Given the description of an element on the screen output the (x, y) to click on. 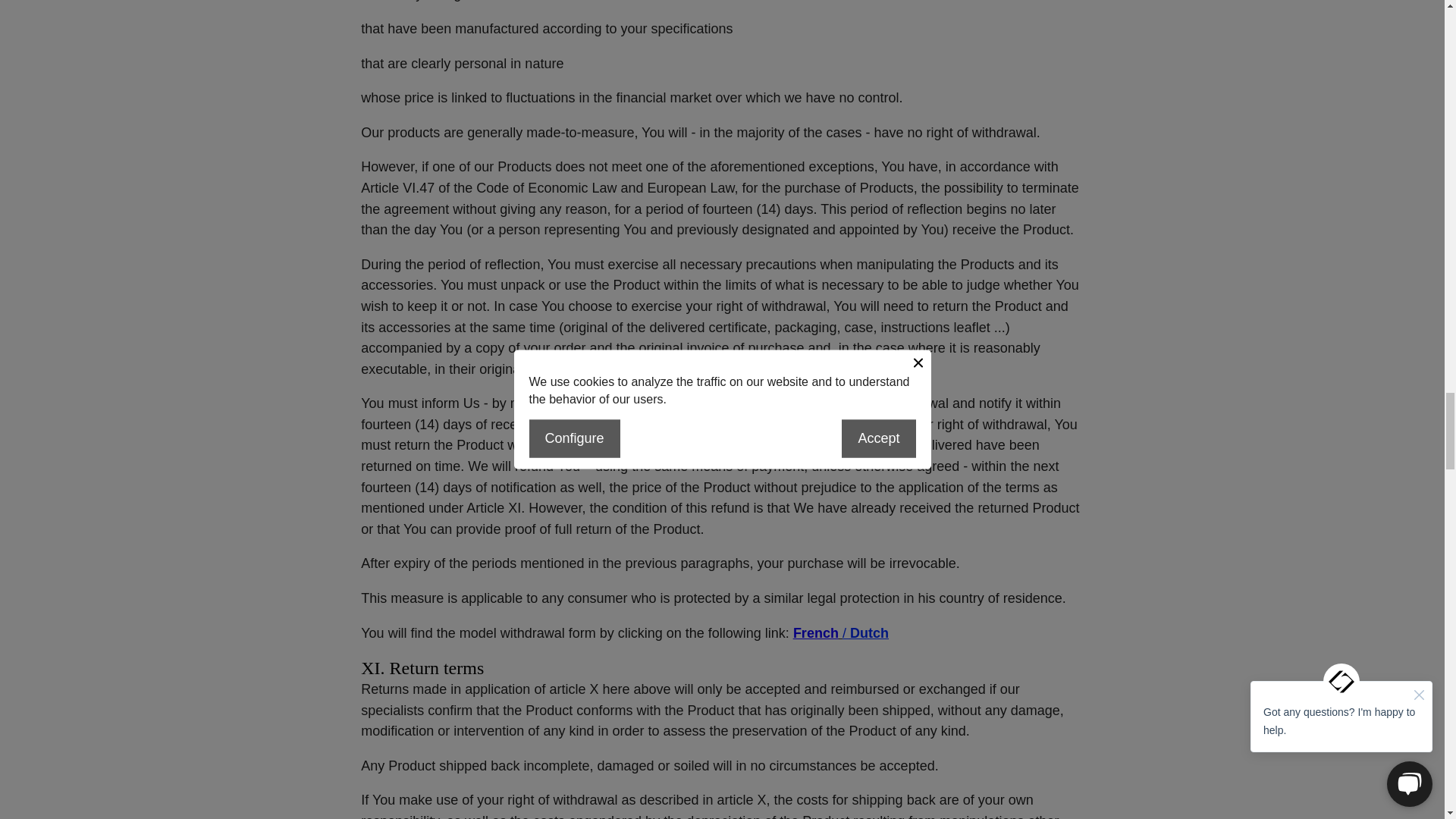
Dutch (869, 632)
French (815, 632)
